Given the description of an element on the screen output the (x, y) to click on. 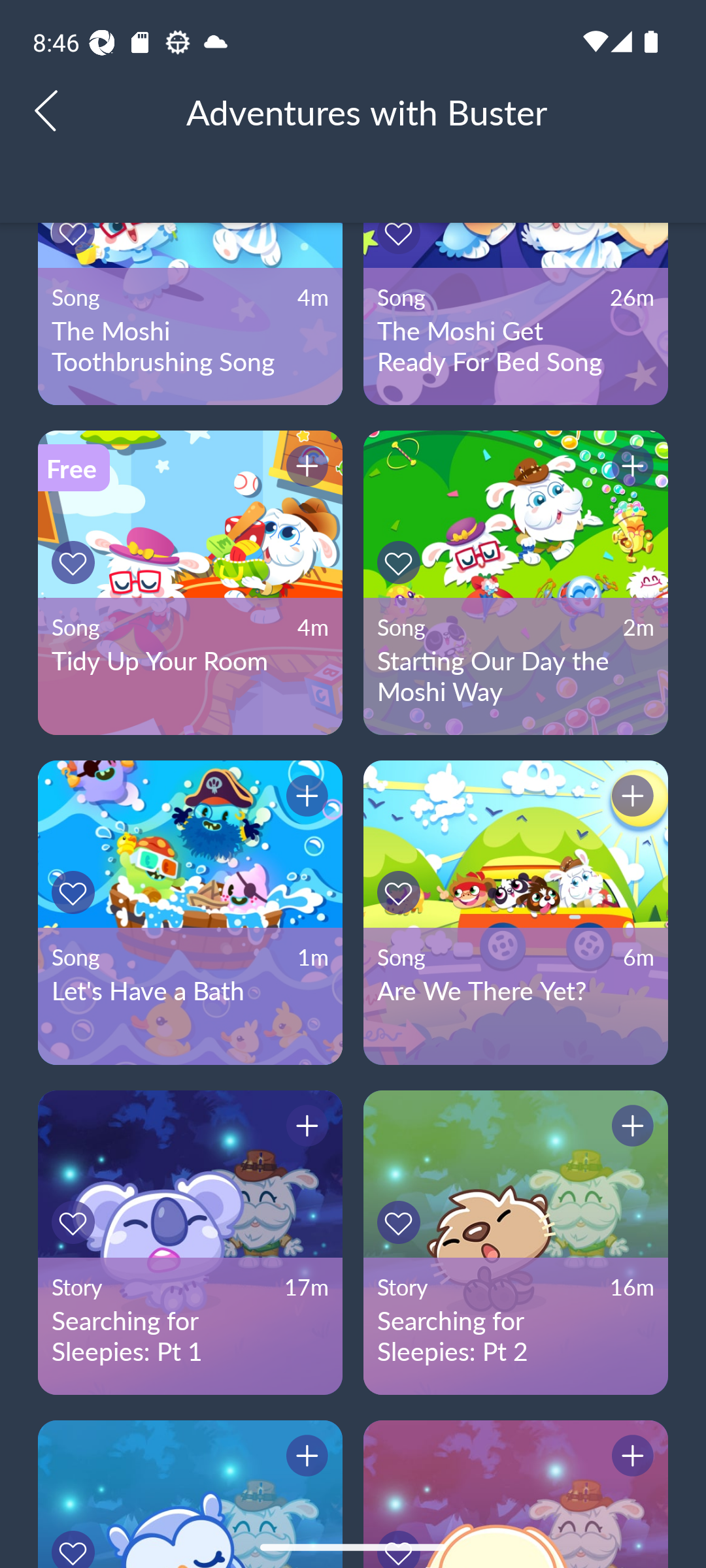
Button (76, 232)
Button (401, 232)
Button (304, 468)
Button (629, 468)
Button (76, 561)
Button (401, 561)
Button (304, 798)
Button (629, 798)
Button (76, 891)
Button (401, 891)
Button (304, 1127)
Button (629, 1127)
Button (76, 1221)
Button (401, 1221)
Featured Content Button Button (190, 1494)
Button (304, 1458)
Featured Content Button Button (515, 1494)
Button (629, 1458)
Button (76, 1539)
Button (401, 1539)
